Given the description of an element on the screen output the (x, y) to click on. 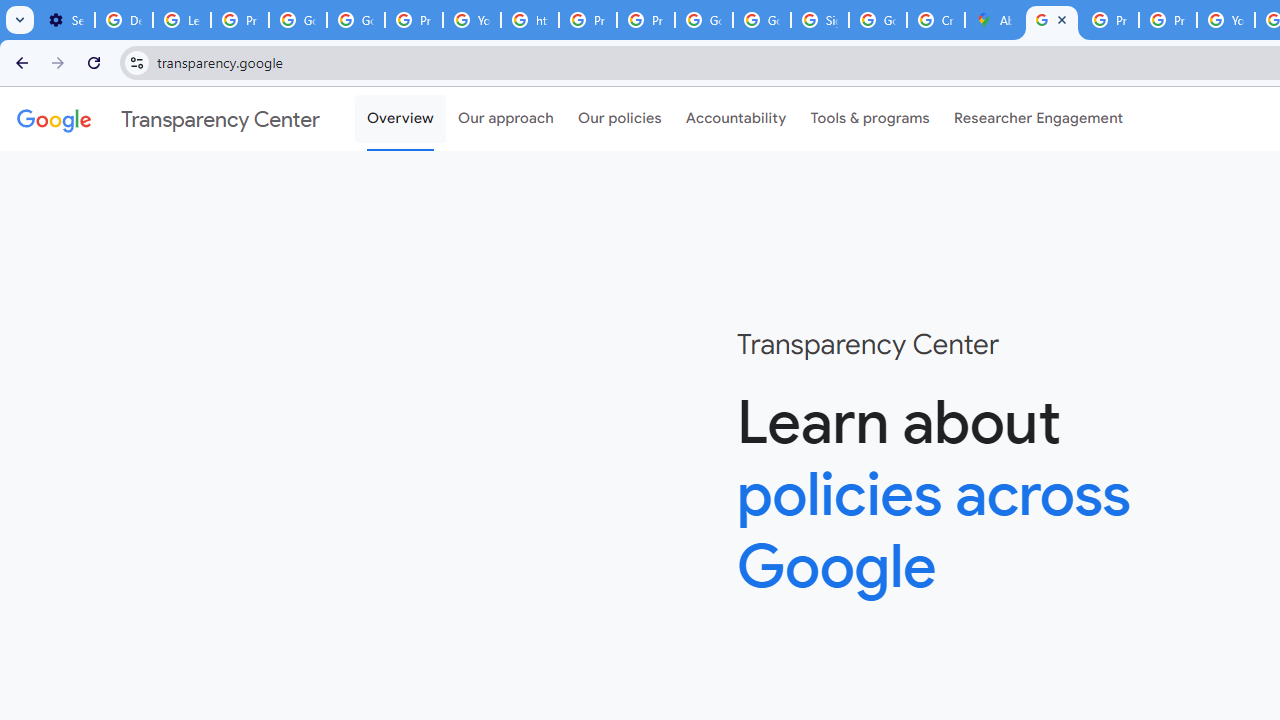
Privacy Help Center - Policies Help (1167, 20)
Researcher Engagement (1038, 119)
YouTube (1225, 20)
Privacy Help Center - Policies Help (1110, 20)
Create your Google Account (936, 20)
Tools & programs (869, 119)
Sign in - Google Accounts (819, 20)
Our approach (506, 119)
